Given the description of an element on the screen output the (x, y) to click on. 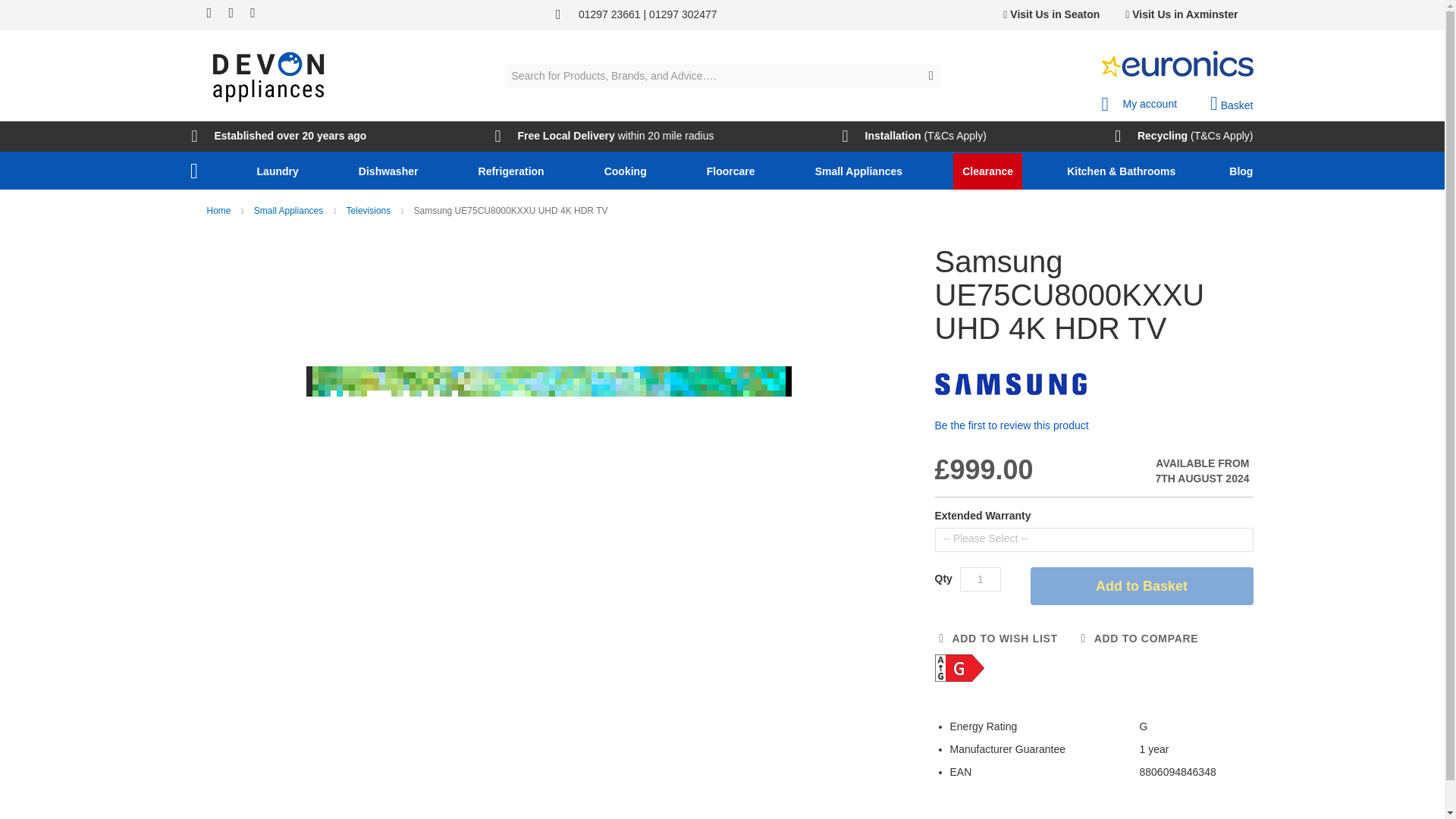
Add to Basket (1140, 586)
Devon Appliances logo. (268, 75)
Dishwasher (391, 171)
My account (1138, 99)
1 (980, 579)
Basket (1230, 103)
Qty (980, 579)
Installation (882, 136)
Go to Home Page (219, 210)
Visit Us in Axminster (1181, 14)
